Given the description of an element on the screen output the (x, y) to click on. 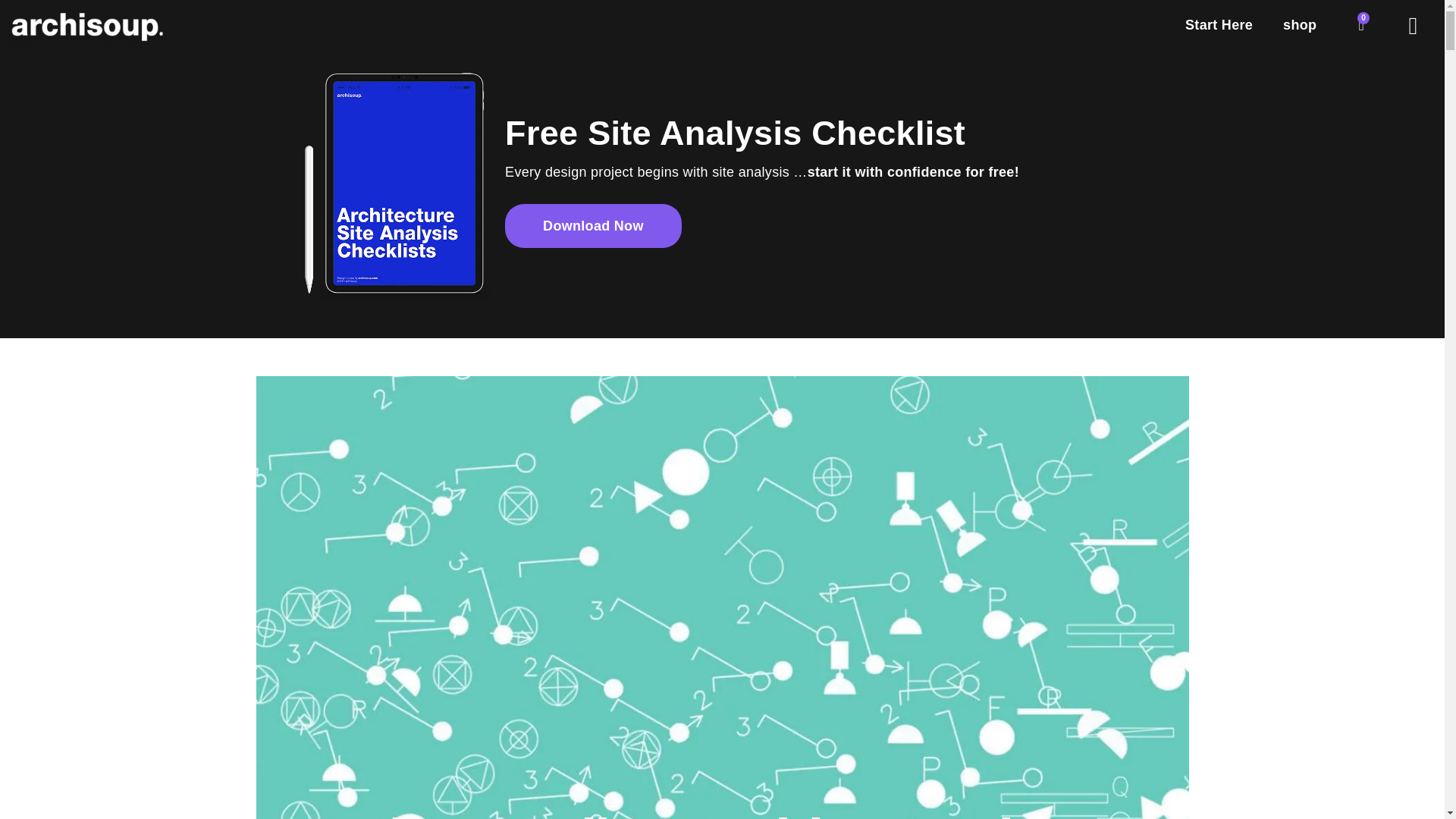
shop (1300, 24)
0 (1361, 24)
Start Here (1219, 24)
Download Now (593, 225)
